Given the description of an element on the screen output the (x, y) to click on. 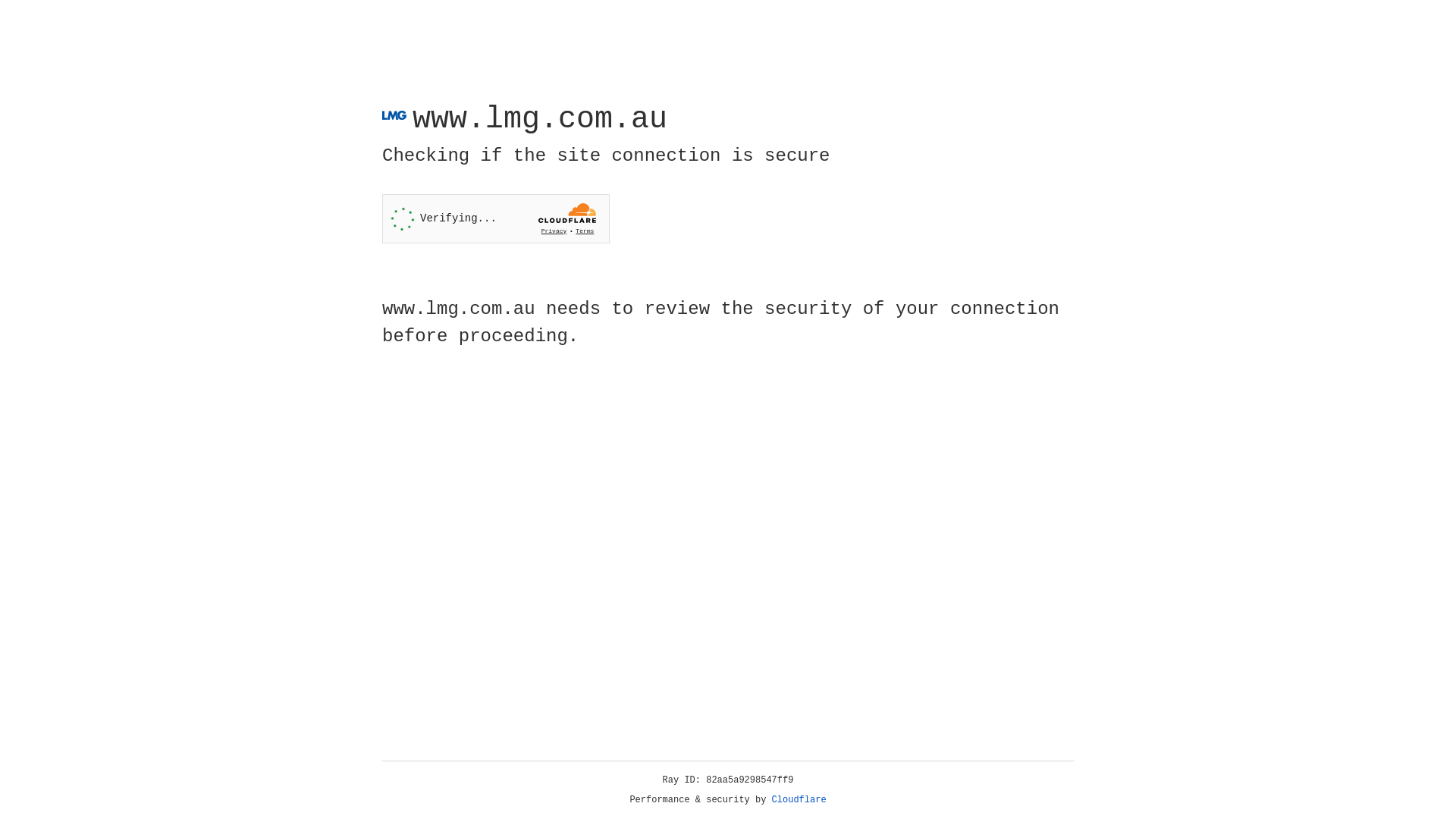
Cloudflare Element type: text (798, 799)
Widget containing a Cloudflare security challenge Element type: hover (495, 218)
